Given the description of an element on the screen output the (x, y) to click on. 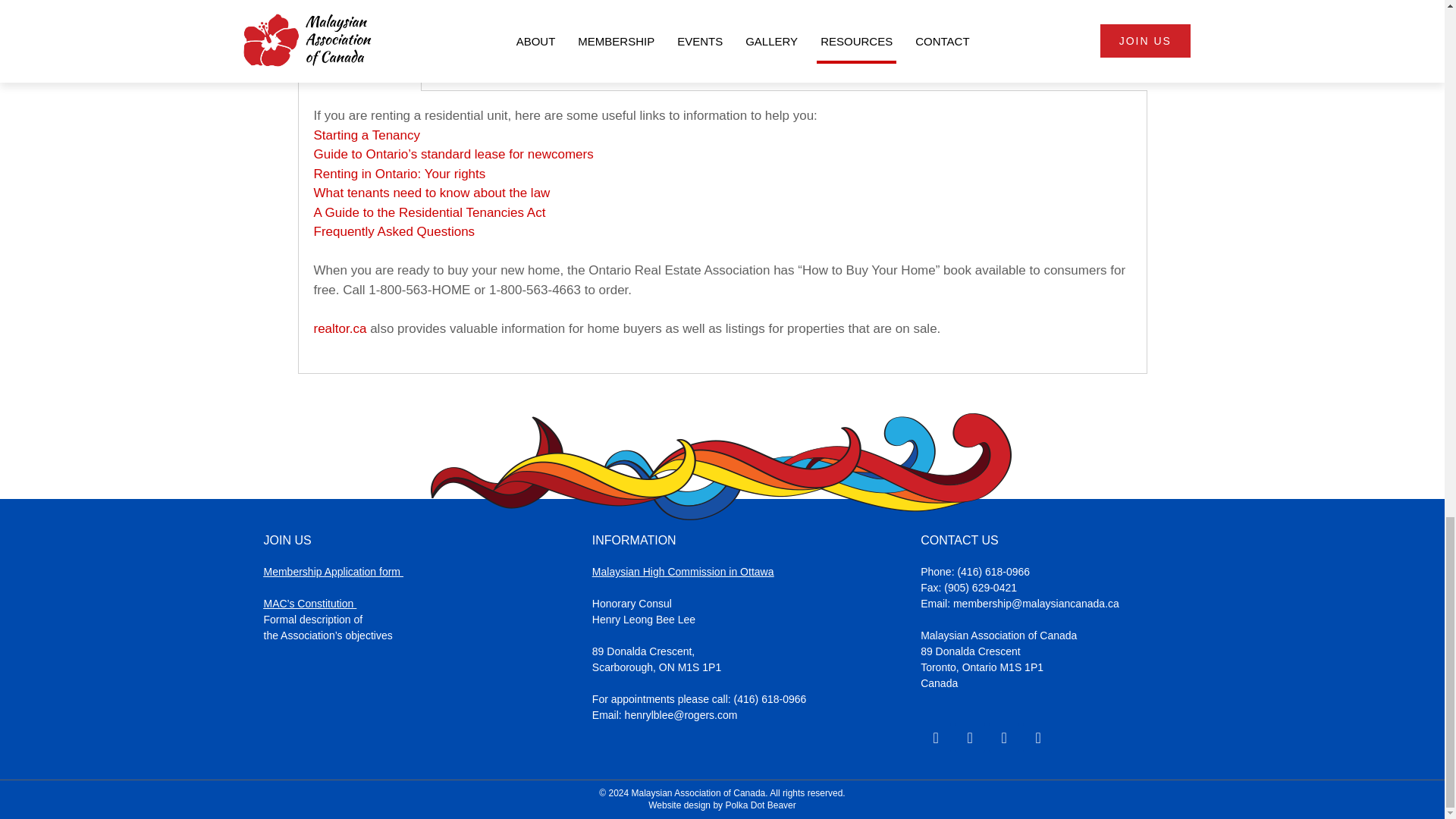
Renting in Ontario: Your rights (400, 173)
What tenants need to know about the law (432, 192)
Starting a Tenancy (367, 134)
